Given the description of an element on the screen output the (x, y) to click on. 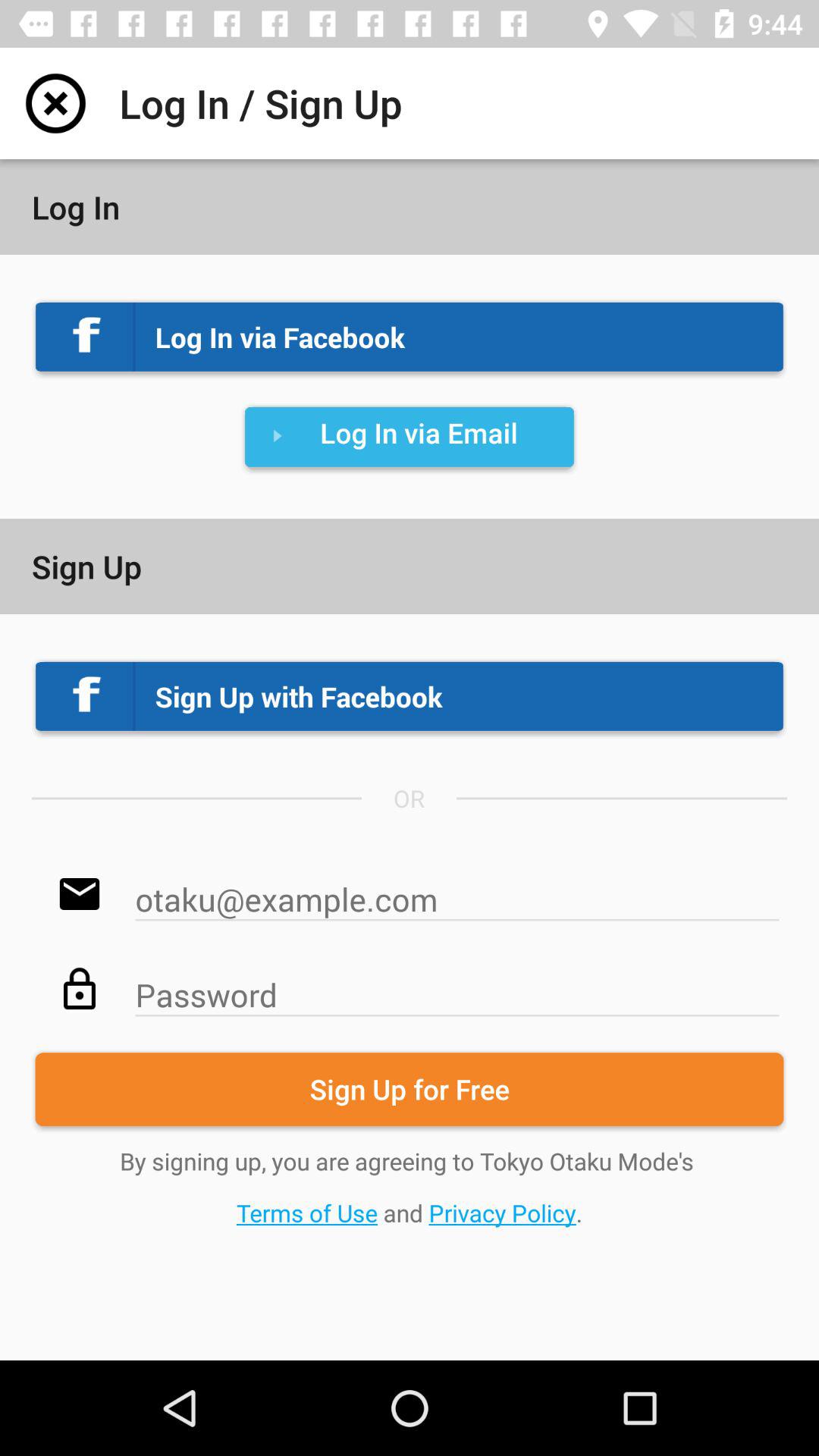
jump to the by signing up icon (409, 1186)
